Given the description of an element on the screen output the (x, y) to click on. 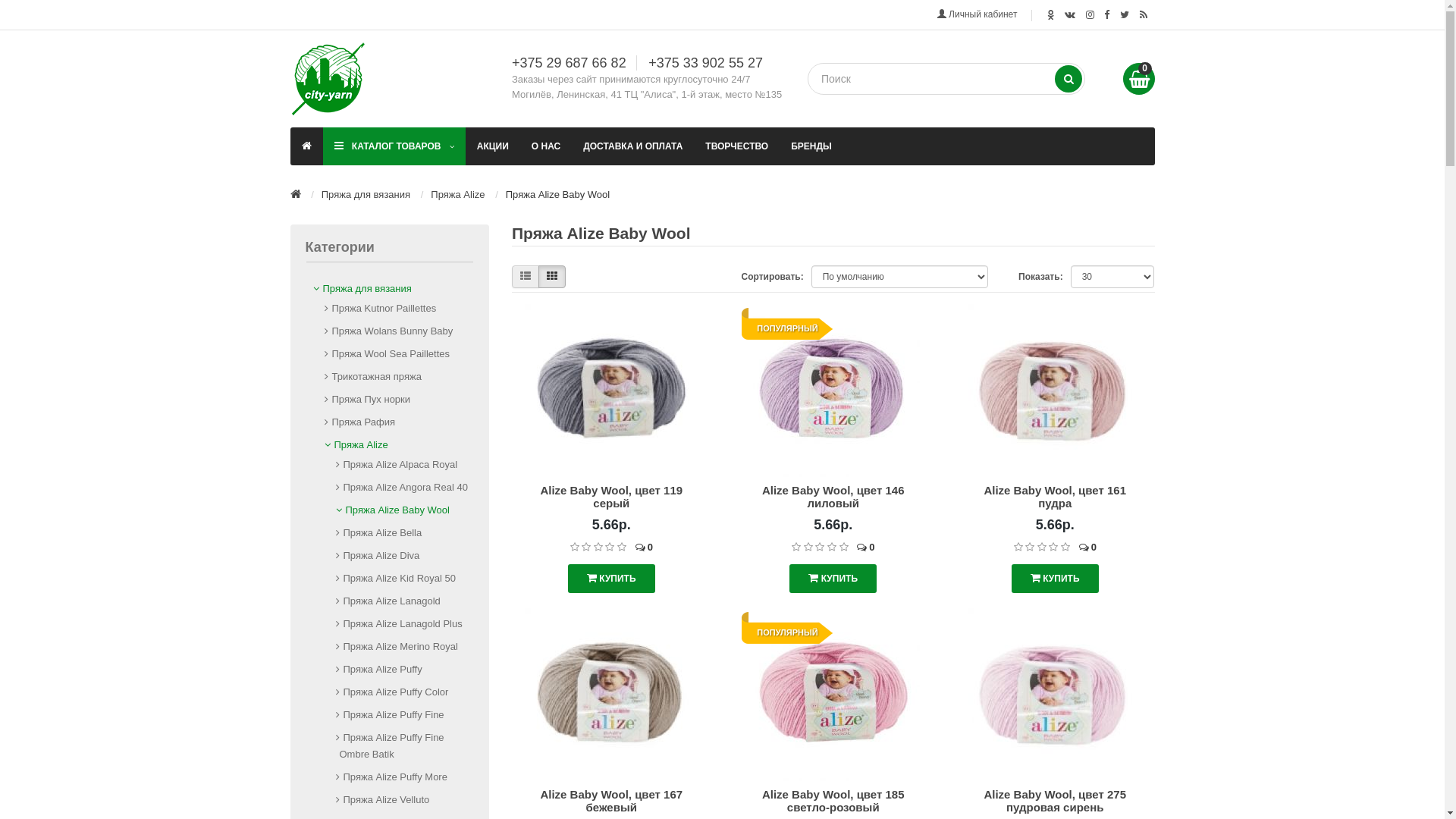
0 Element type: text (1138, 78)
city-yarn.by Element type: hover (327, 78)
+375 33 902 55 27 Element type: text (703, 62)
+375 29 687 66 82 Element type: text (572, 62)
